Given the description of an element on the screen output the (x, y) to click on. 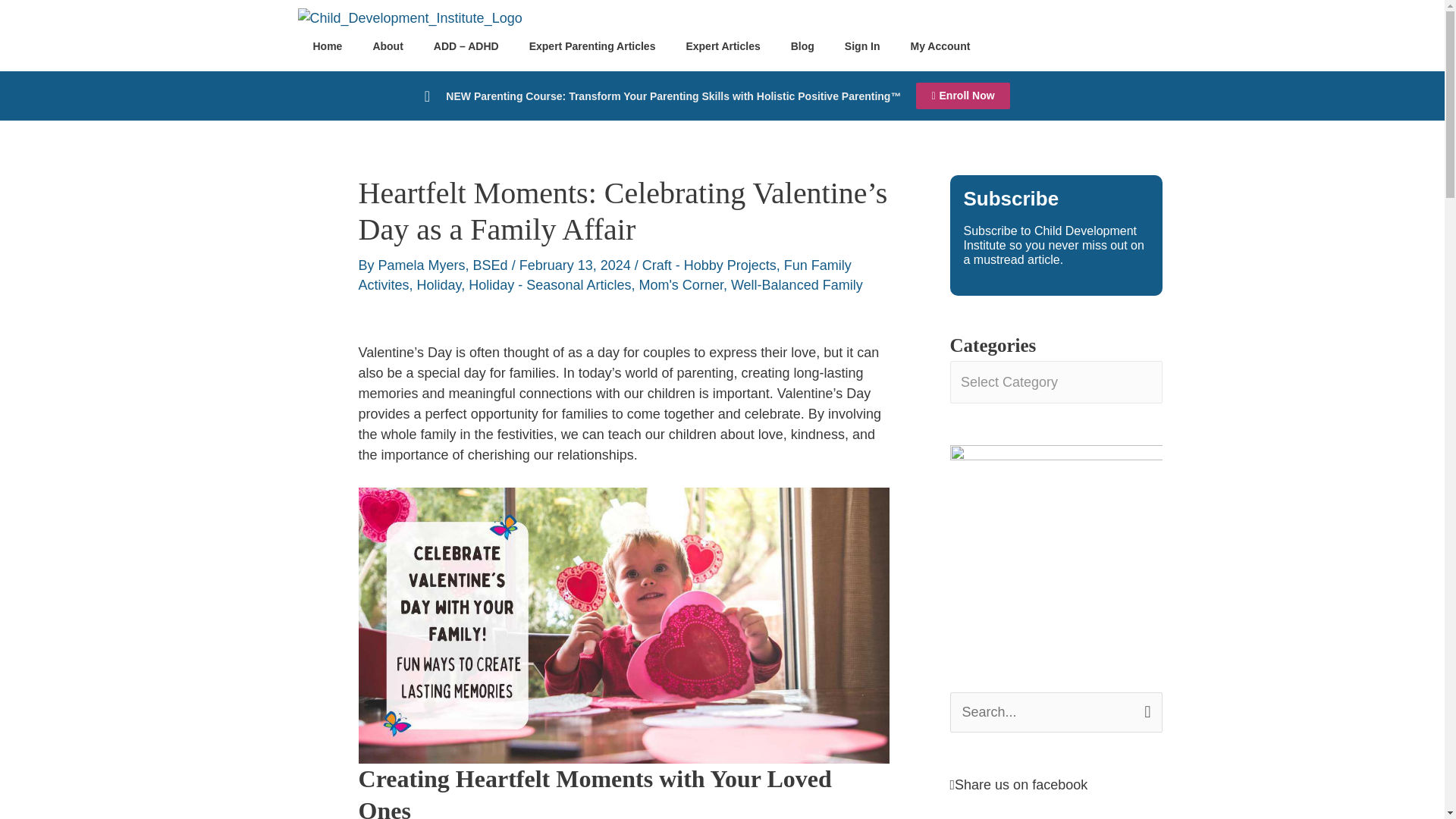
Expert Parenting Articles (592, 45)
About (386, 45)
Sign In (862, 45)
Expert Articles (721, 45)
View all posts by Pamela Myers, BSEd (445, 264)
Blog (802, 45)
Home (326, 45)
My Account (940, 45)
